Given the description of an element on the screen output the (x, y) to click on. 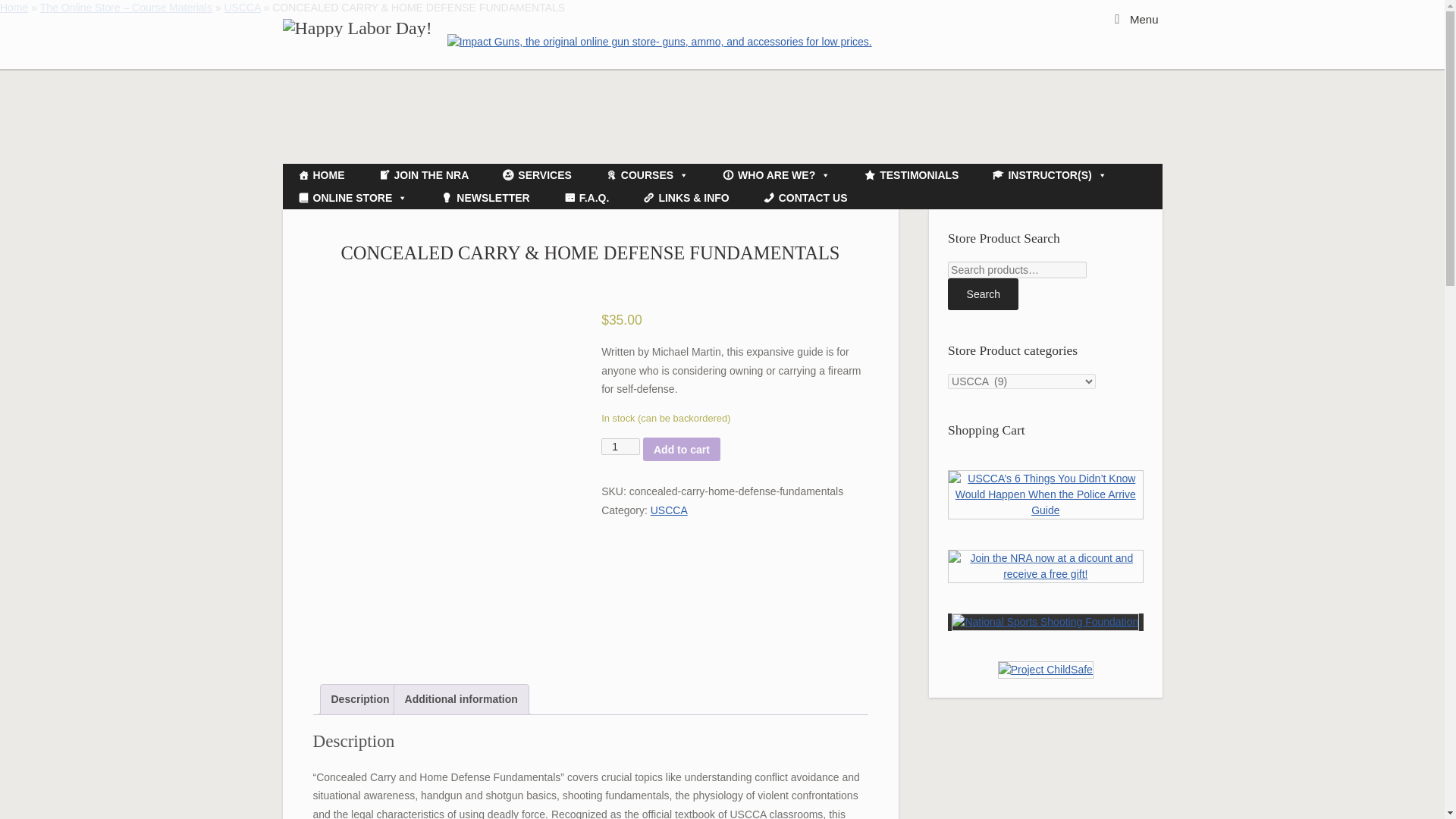
Description (359, 699)
Additional information (461, 699)
USCCA (242, 7)
NEWSLETTER (485, 197)
USCCA (242, 7)
Menu (1136, 18)
TESTIMONIALS (911, 174)
Project ChildSafe (1045, 669)
Home (13, 7)
SERVICES (536, 174)
